Given the description of an element on the screen output the (x, y) to click on. 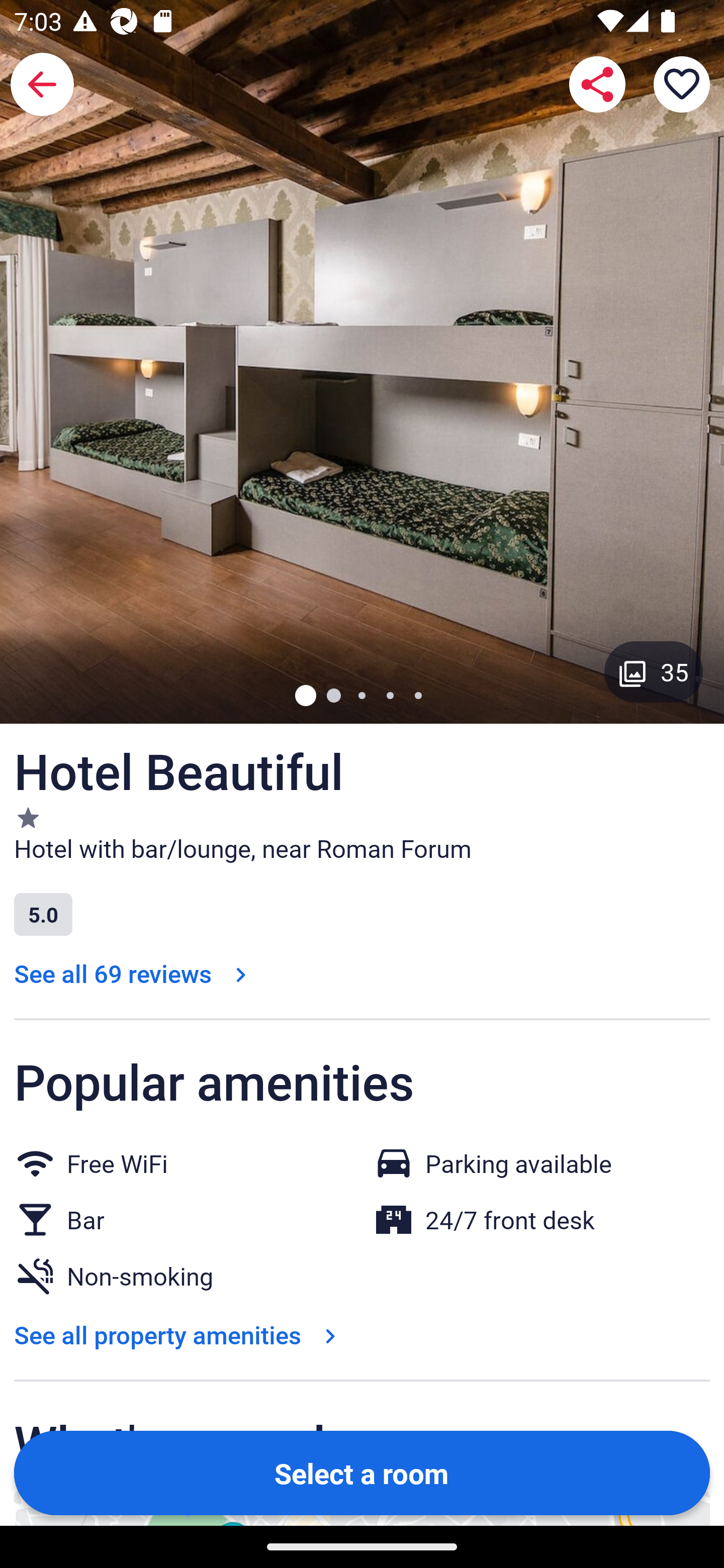
Back (42, 84)
Save property to a trip (681, 84)
Share Hotel Beautiful (597, 84)
Gallery button with 35 images (653, 671)
See all 69 reviews See all 69 reviews Link (133, 973)
See all property amenities (178, 1334)
Select a room Button Select a room (361, 1472)
